Given the description of an element on the screen output the (x, y) to click on. 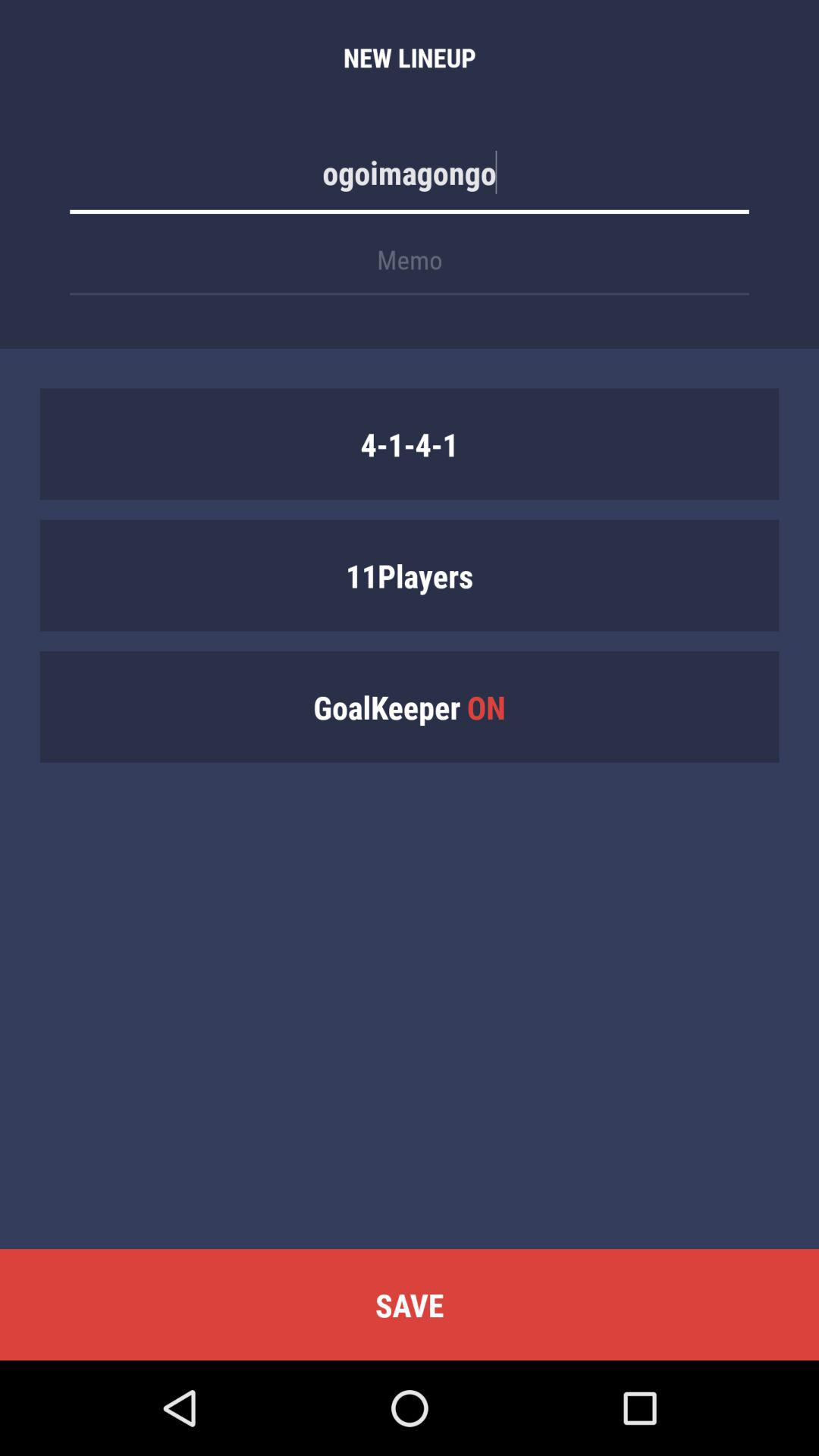
click the item below 4 1 4 (409, 575)
